Given the description of an element on the screen output the (x, y) to click on. 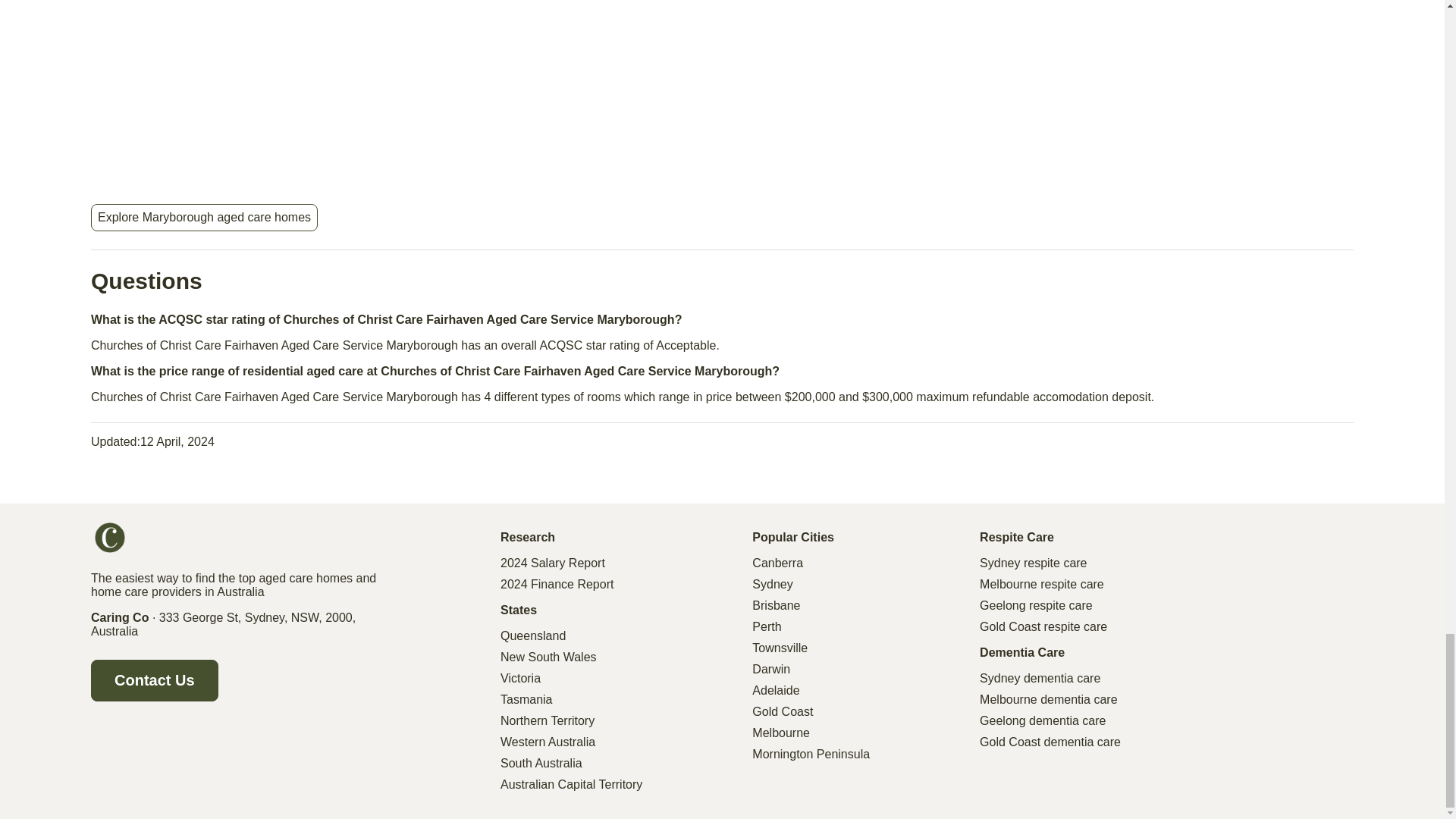
Australian Capital Territory (571, 784)
Western Australia (547, 742)
Explore Maryborough aged care homes (204, 217)
Sydney (772, 584)
Victoria (520, 678)
Perth (766, 626)
Contact Us (155, 679)
South Australia (541, 763)
Darwin (771, 669)
Brisbane (775, 605)
